Given the description of an element on the screen output the (x, y) to click on. 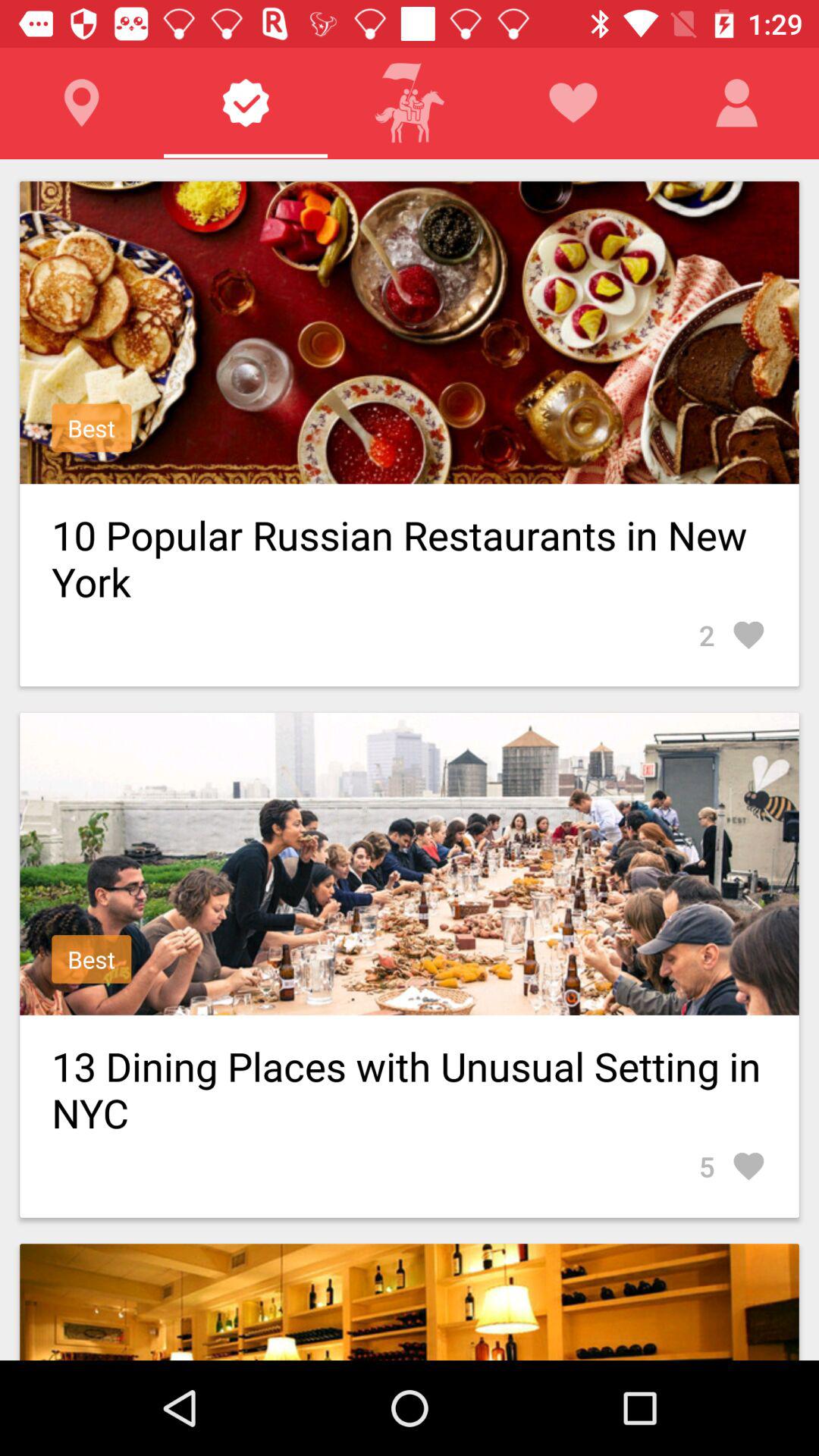
select the 2 on the right (732, 635)
